Given the description of an element on the screen output the (x, y) to click on. 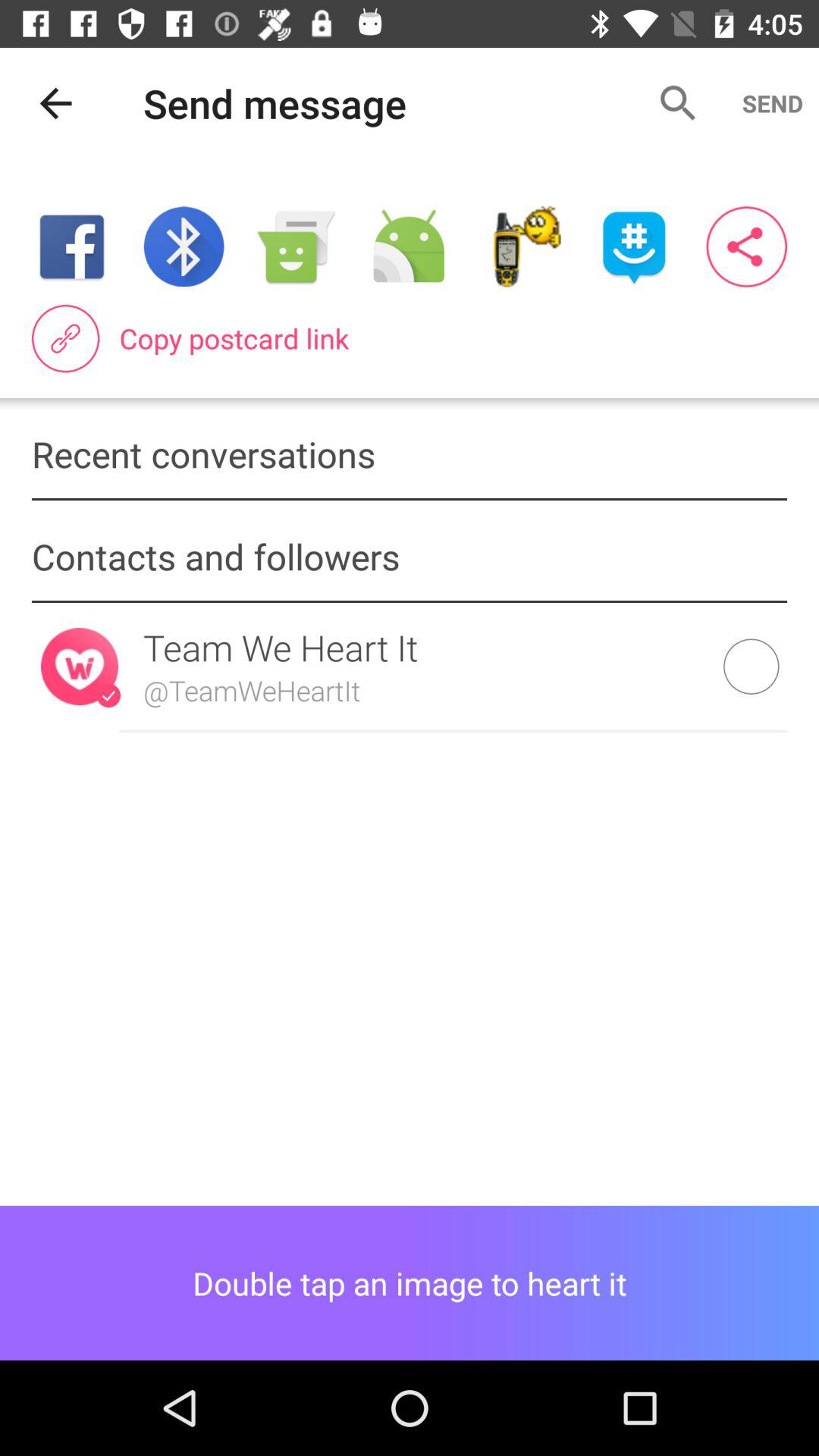
launch icon next to send icon (678, 103)
